Given the description of an element on the screen output the (x, y) to click on. 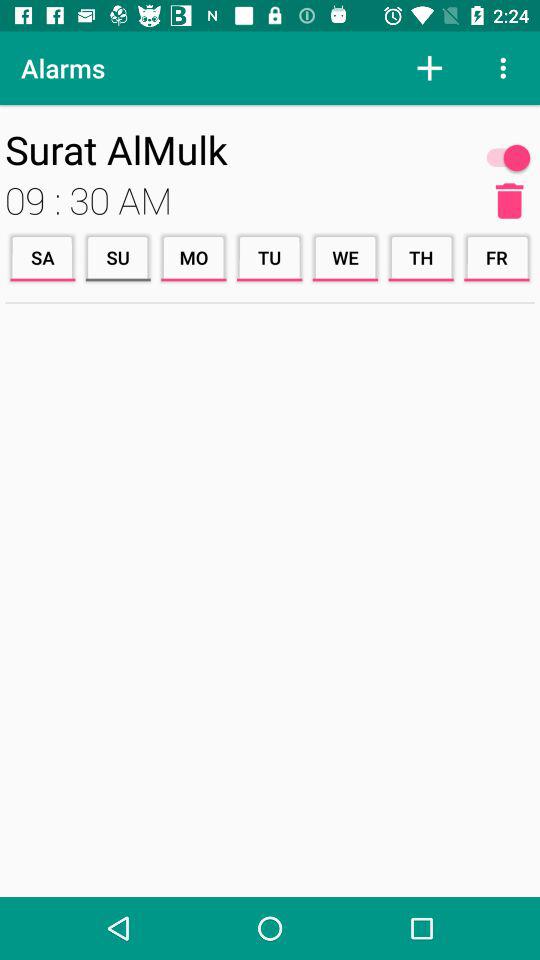
swipe until su item (118, 257)
